Given the description of an element on the screen output the (x, y) to click on. 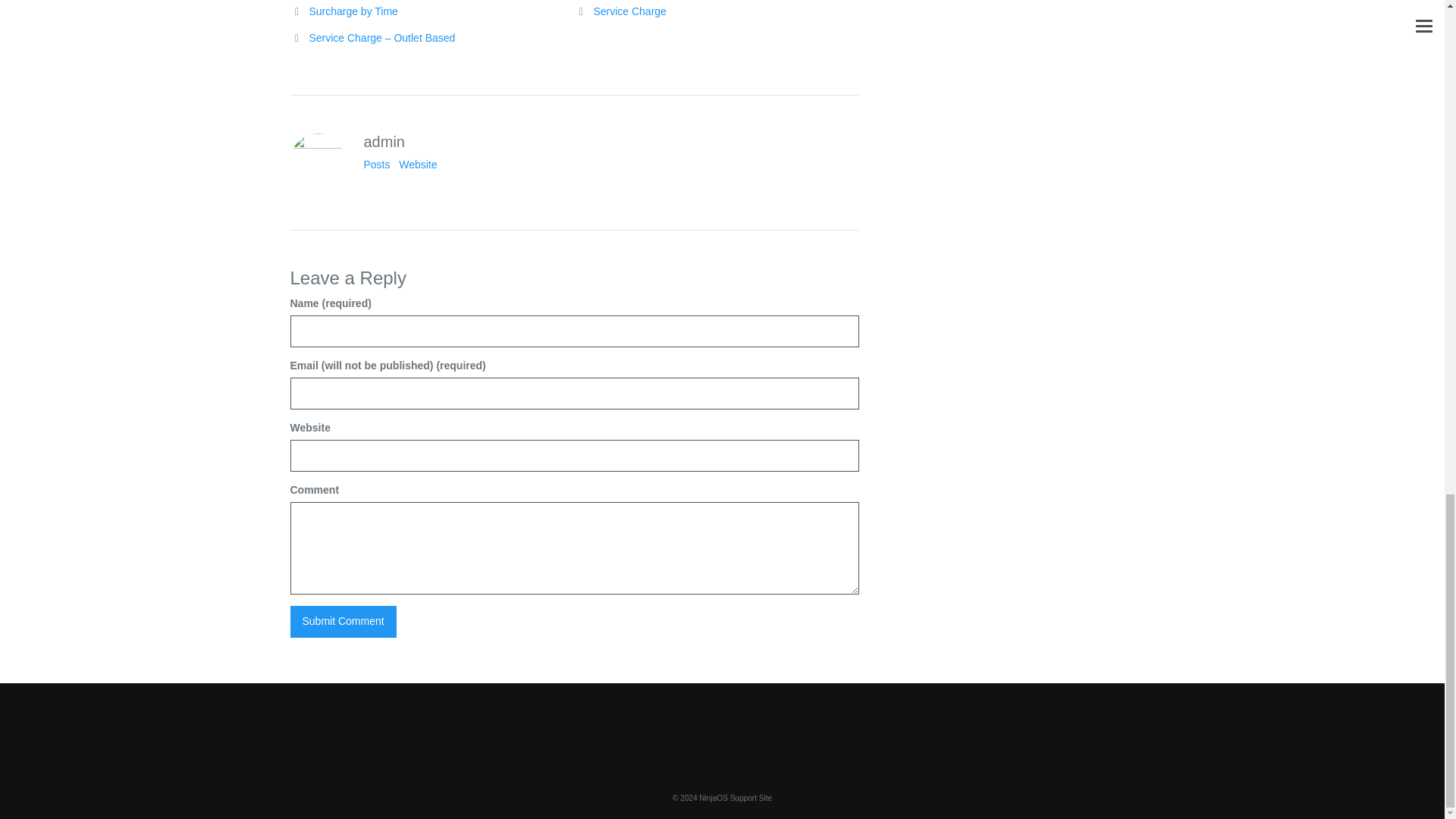
Submit Comment (342, 622)
Service Charge (629, 10)
Posts (377, 164)
Surcharge by Time (352, 10)
Website (417, 164)
admin Posts (377, 164)
Submit Comment (342, 622)
Website (417, 164)
